Given the description of an element on the screen output the (x, y) to click on. 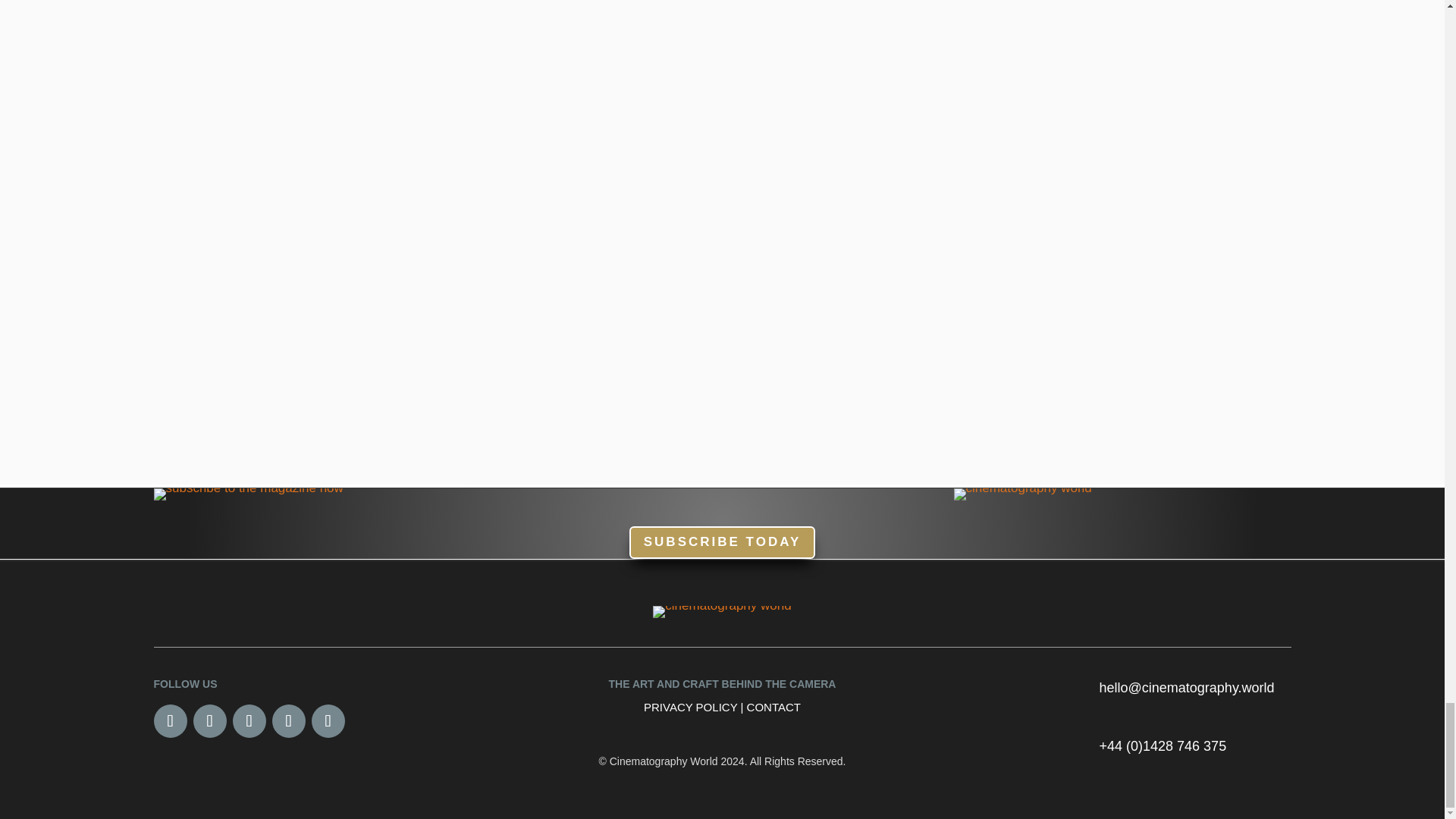
sub1 (247, 494)
